Given the description of an element on the screen output the (x, y) to click on. 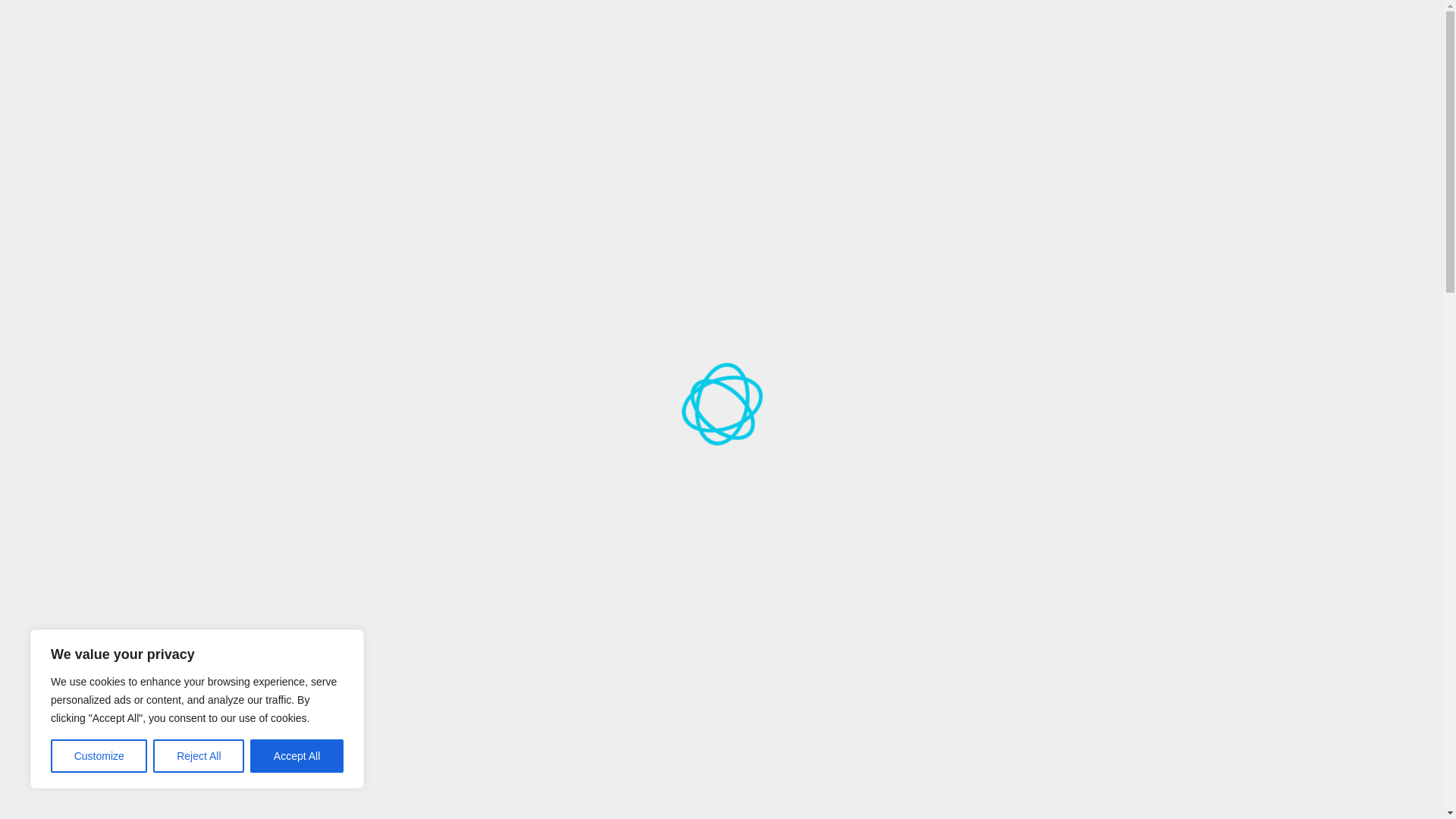
Breaking News (400, 396)
ganhar seguidores (743, 630)
Reject All (198, 756)
Accept All (296, 756)
BREAKING NEWS (621, 93)
Home (303, 396)
Home (303, 396)
BEAUTY (708, 93)
HOME AND FAMILY (998, 93)
Go (1137, 23)
FINANCE (846, 93)
Customize (98, 756)
BUSINESS (776, 93)
HOME (541, 93)
Posts (342, 396)
